Given the description of an element on the screen output the (x, y) to click on. 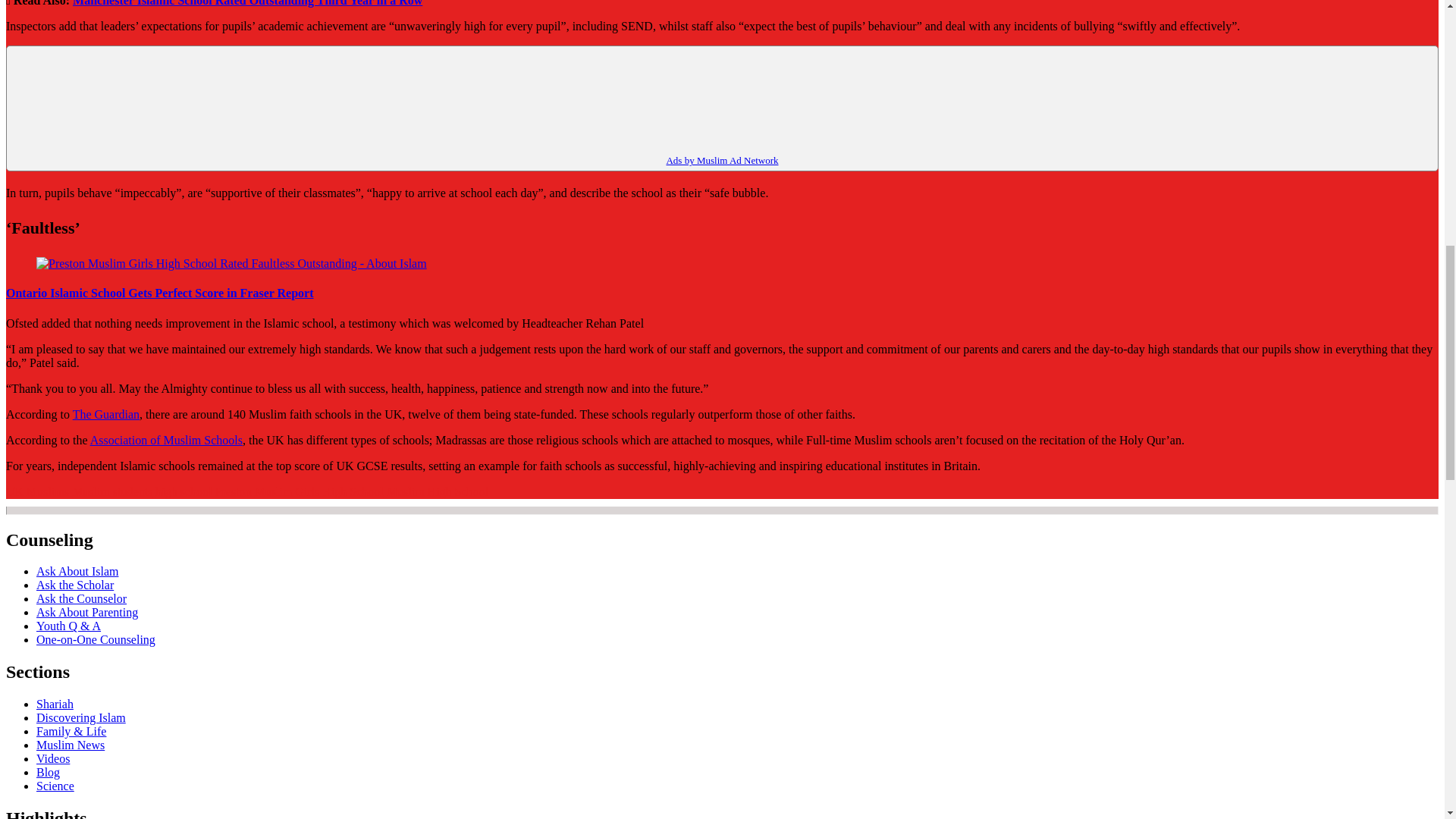
Ads by Muslim Ad Network (721, 160)
Muslim Girls High School (319, 491)
Advertise and Market to Muslims (721, 160)
Preston Tag (233, 491)
Preston (233, 491)
Muslim students Tag (111, 491)
UK Muslims (36, 491)
Muslim Girls High School Tag (319, 491)
Muslim High School Tag (437, 491)
Ask the Scholar (74, 584)
Ask About Islam (76, 571)
UK Muslims Tag (36, 491)
high school (183, 491)
The Guardian (105, 413)
Muslim High School (437, 491)
